Given the description of an element on the screen output the (x, y) to click on. 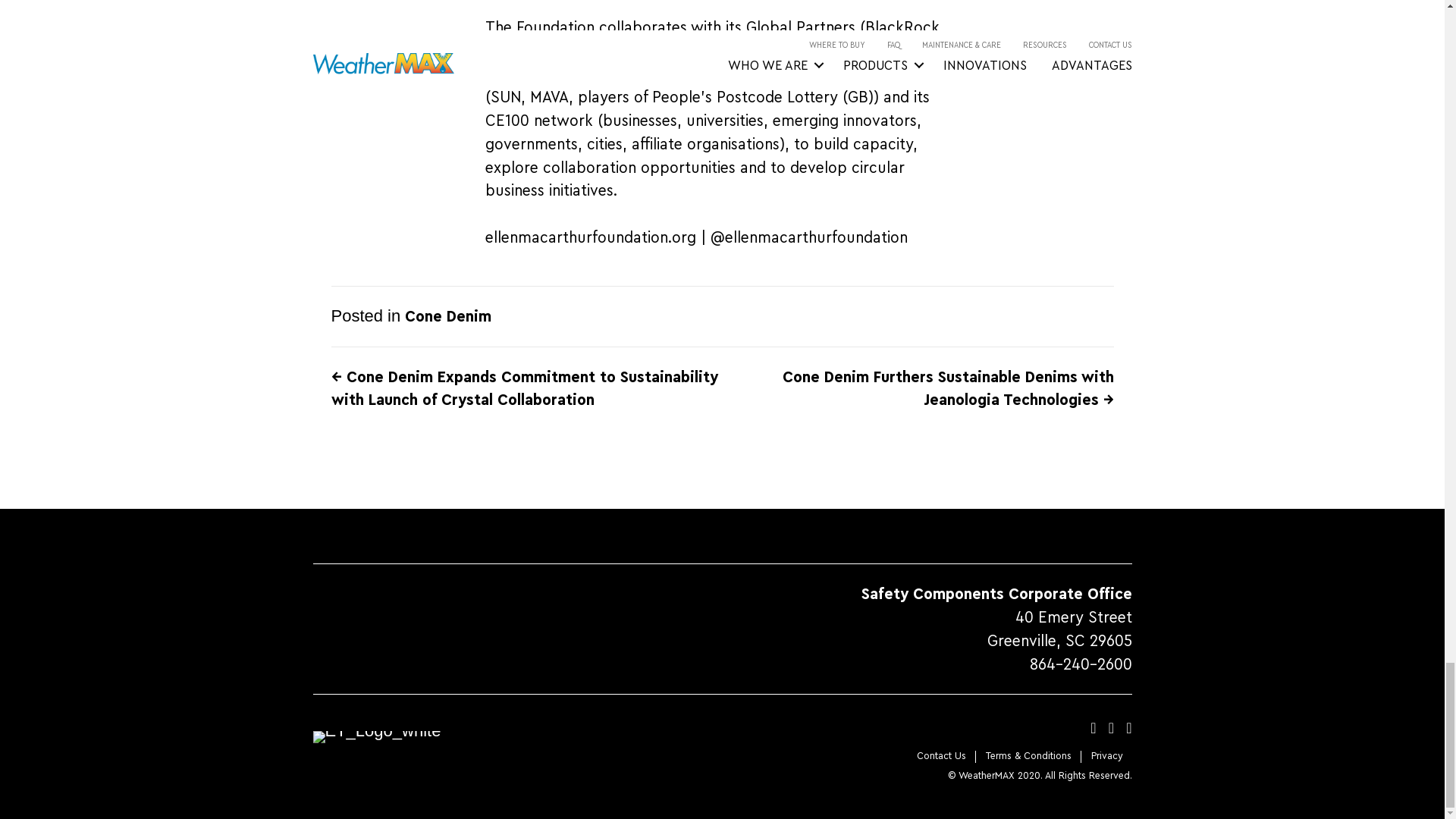
Contact Us (940, 756)
Privacy (1106, 756)
Cone Denim (448, 315)
